Given the description of an element on the screen output the (x, y) to click on. 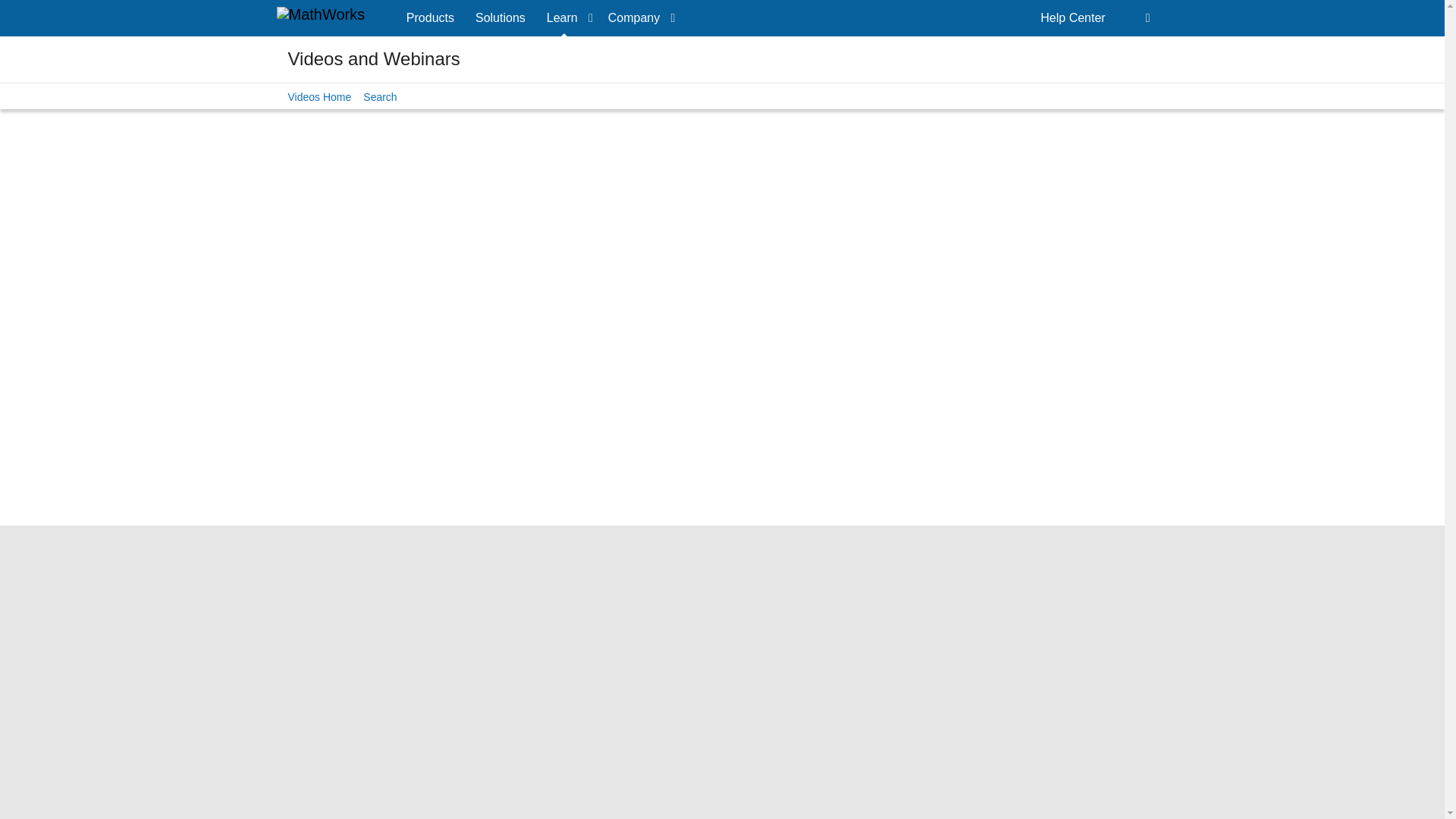
Solutions (499, 18)
Learn (566, 18)
Company (638, 18)
Products (430, 18)
Help Center (1071, 18)
